Given the description of an element on the screen output the (x, y) to click on. 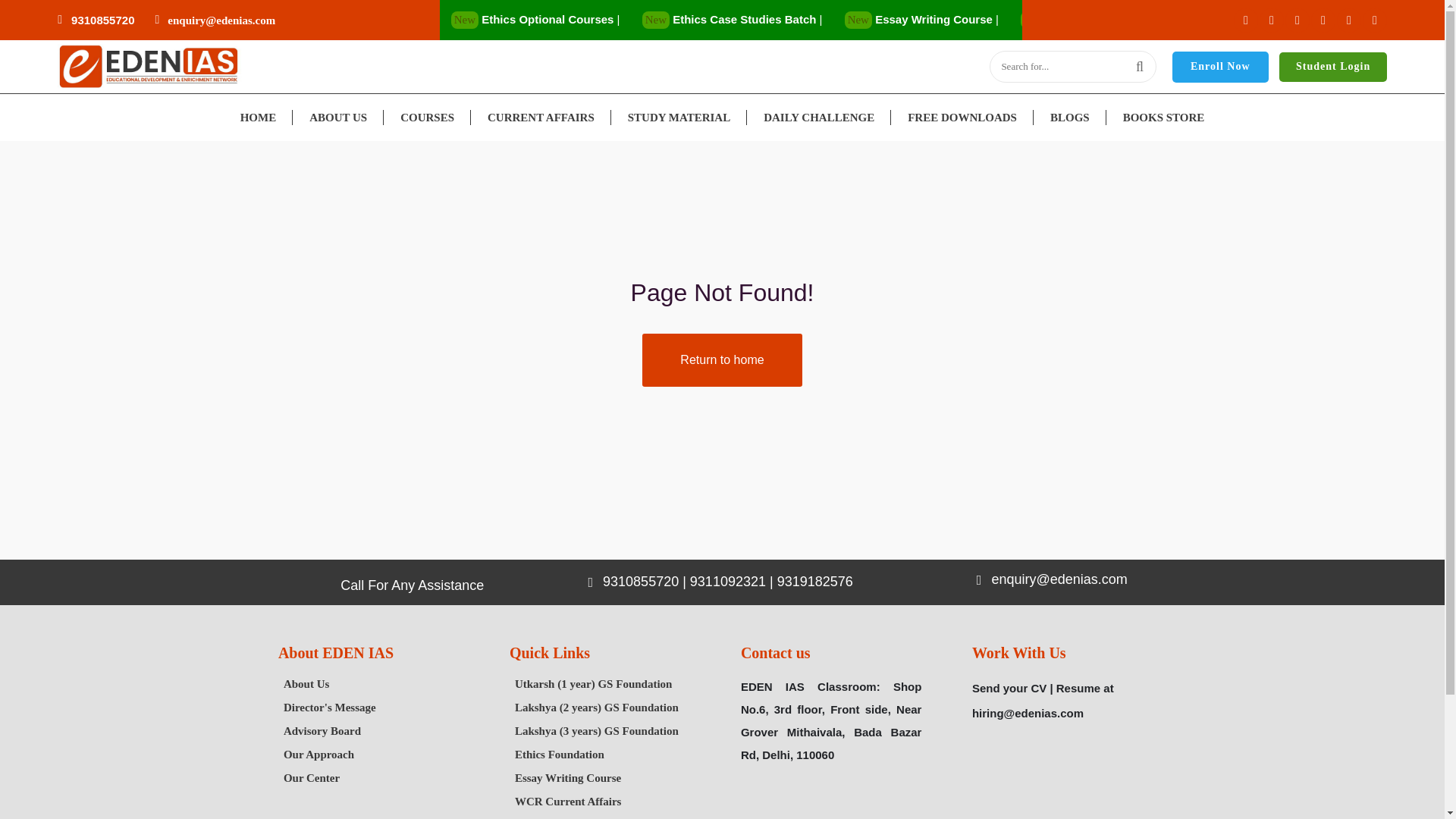
Student Login (1333, 66)
Enroll Now (1220, 66)
COURSES (427, 117)
ABOUT US (338, 117)
HOME (259, 117)
